Given the description of an element on the screen output the (x, y) to click on. 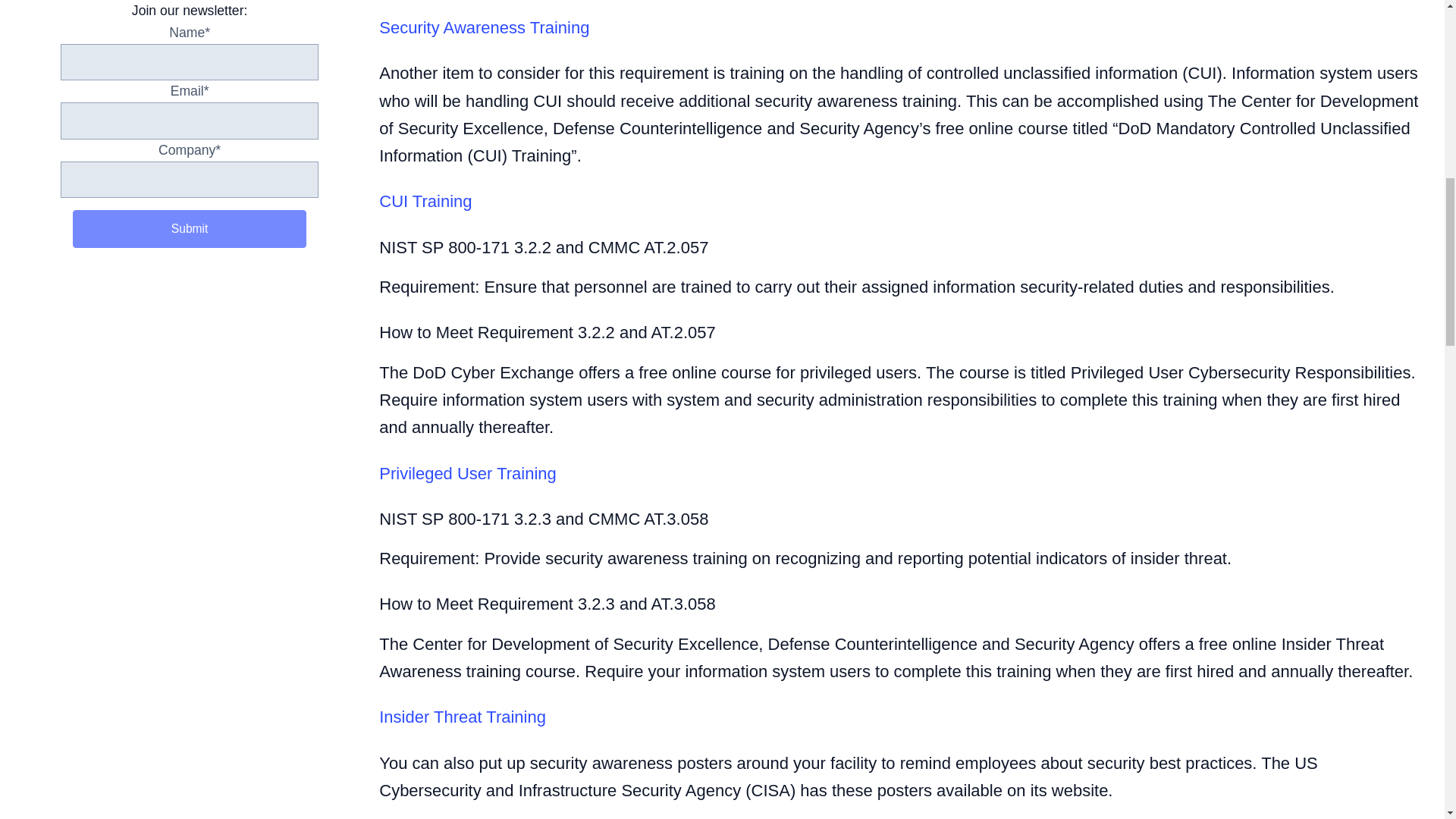
Security Awareness Training (483, 27)
Insider Threat Training (462, 716)
Privileged User Training (467, 473)
CUI Training (424, 200)
